Given the description of an element on the screen output the (x, y) to click on. 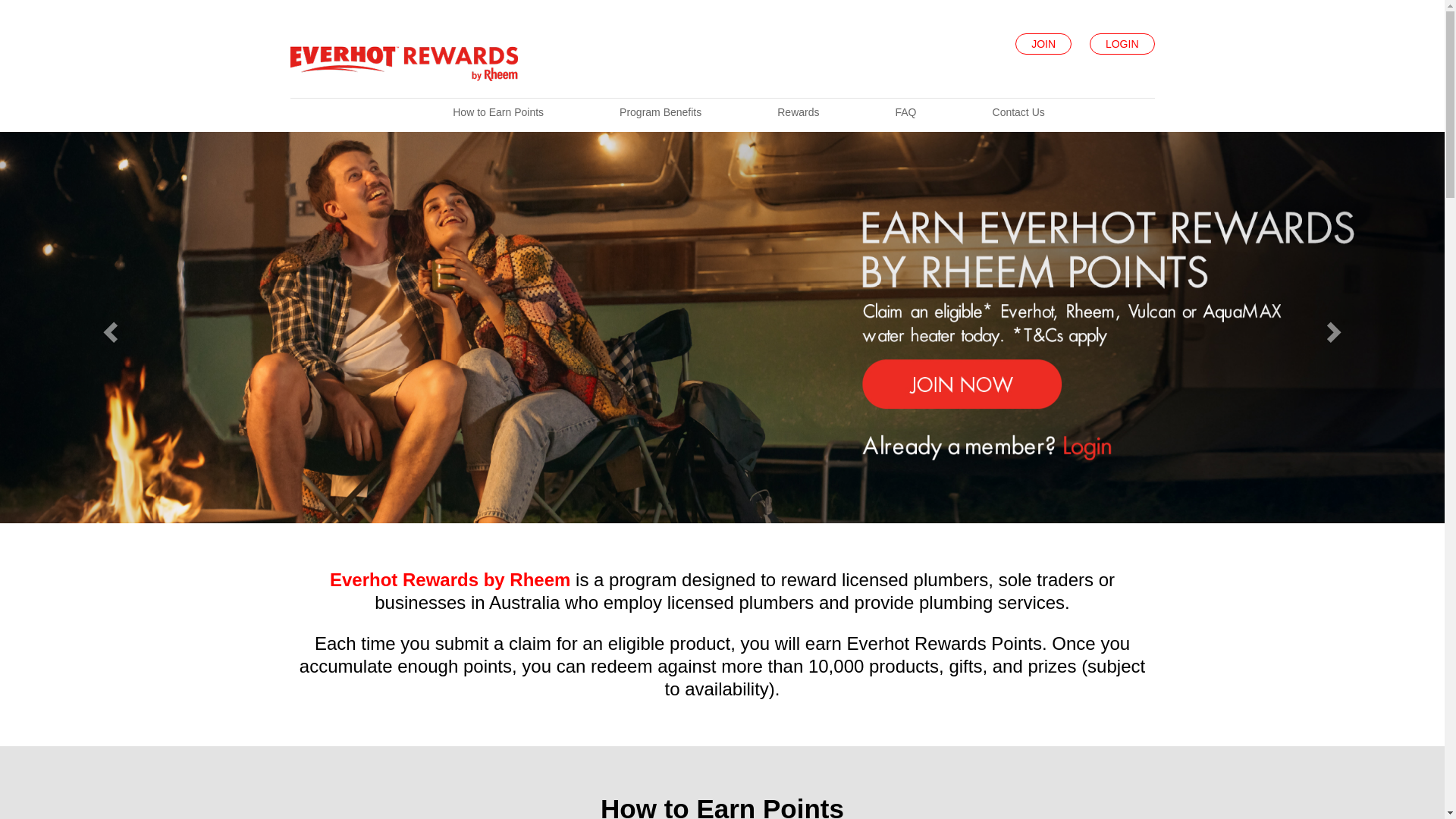
Contact Us Element type: text (1018, 112)
FAQ Element type: text (905, 112)
JOIN Element type: text (1043, 43)
How to Earn Points Element type: text (497, 112)
Next Element type: text (1335, 327)
LOGIN Element type: text (1121, 43)
Program Benefits Element type: text (660, 112)
Rewards Element type: text (798, 112)
Previous Element type: text (108, 327)
